Given the description of an element on the screen output the (x, y) to click on. 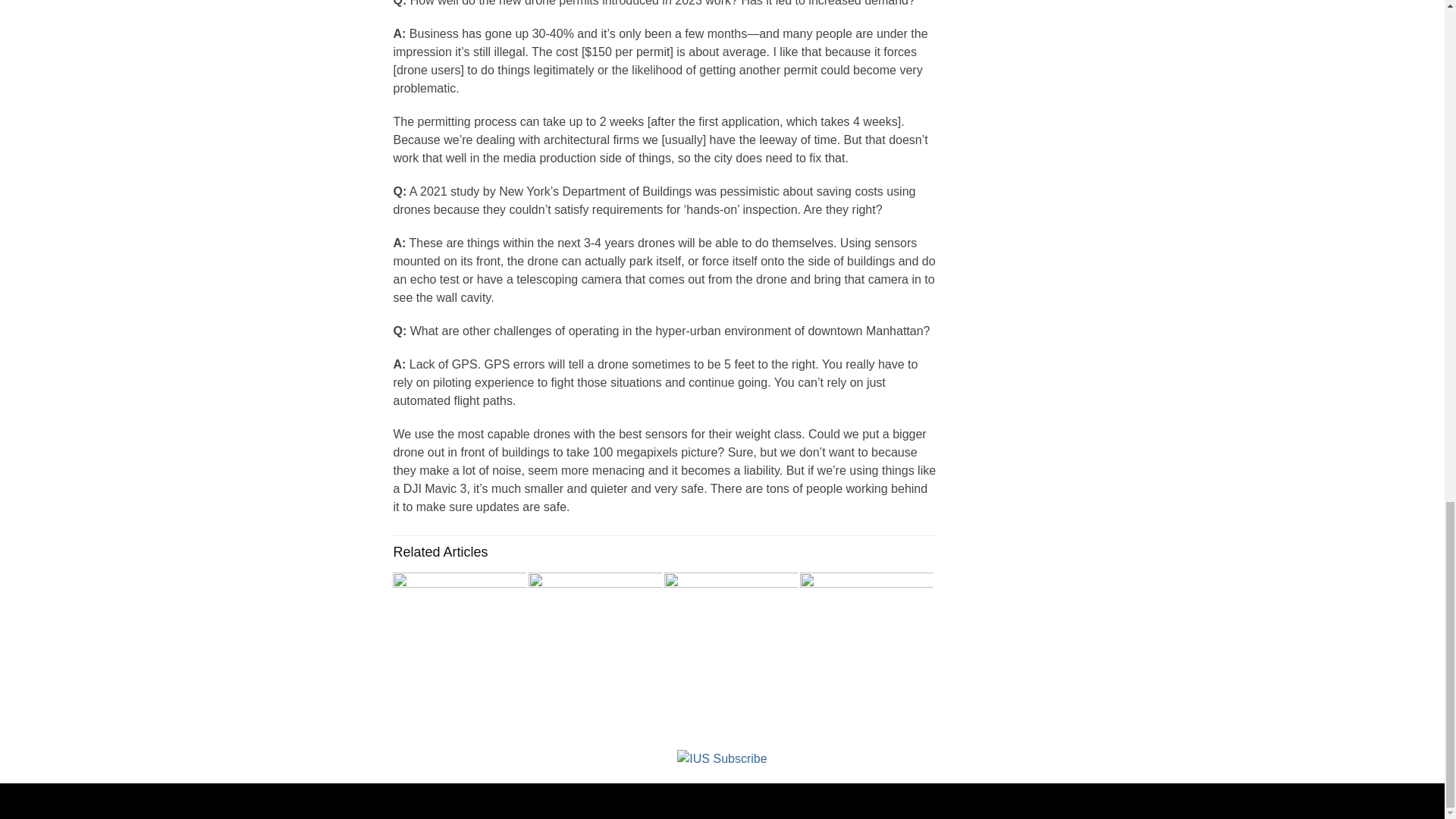
IUS Subscribe (722, 757)
Unmanned Systems: Tools For A New Era in Energy (731, 634)
